Given the description of an element on the screen output the (x, y) to click on. 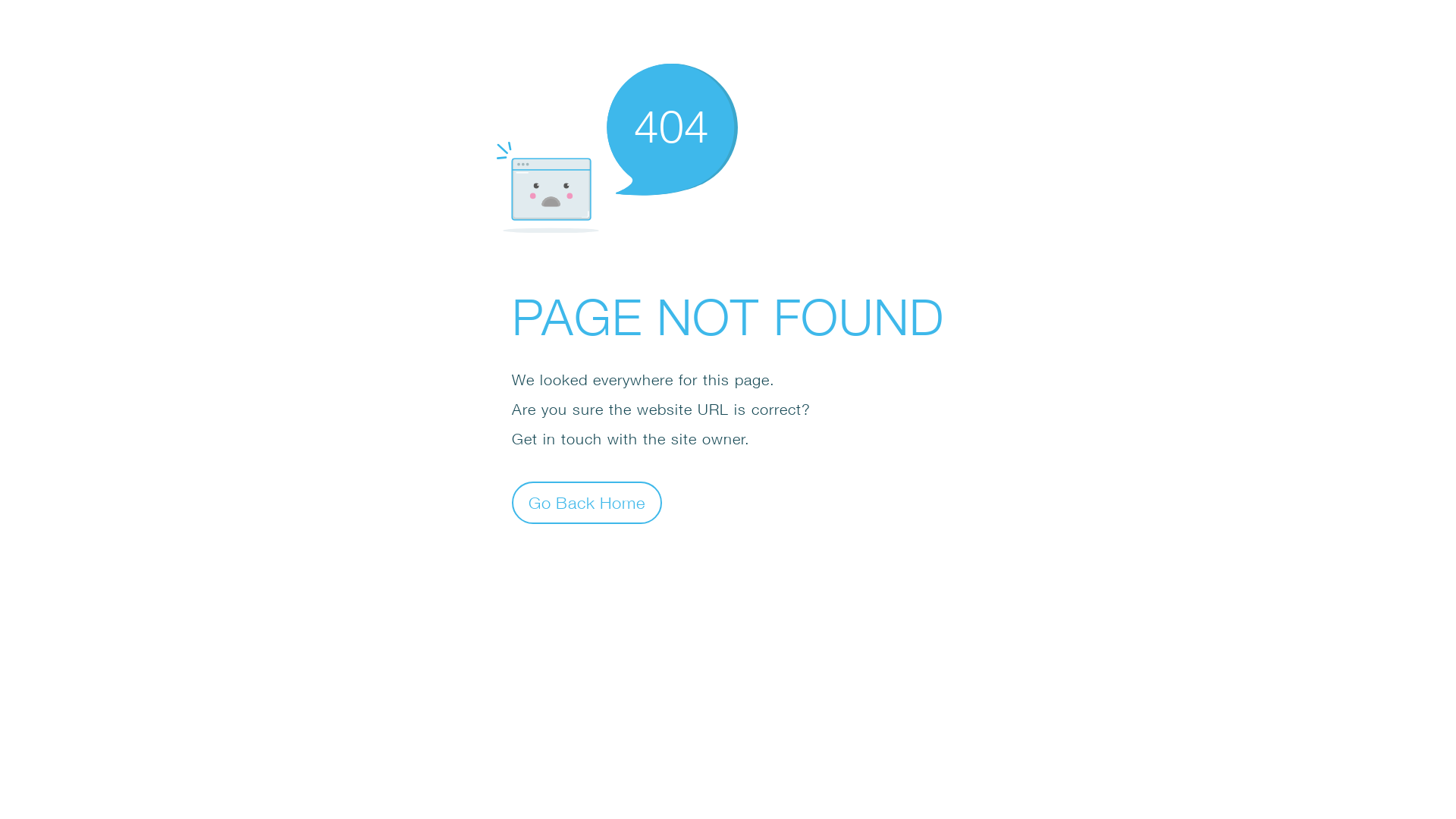
Go Back Home Element type: text (586, 502)
